Given the description of an element on the screen output the (x, y) to click on. 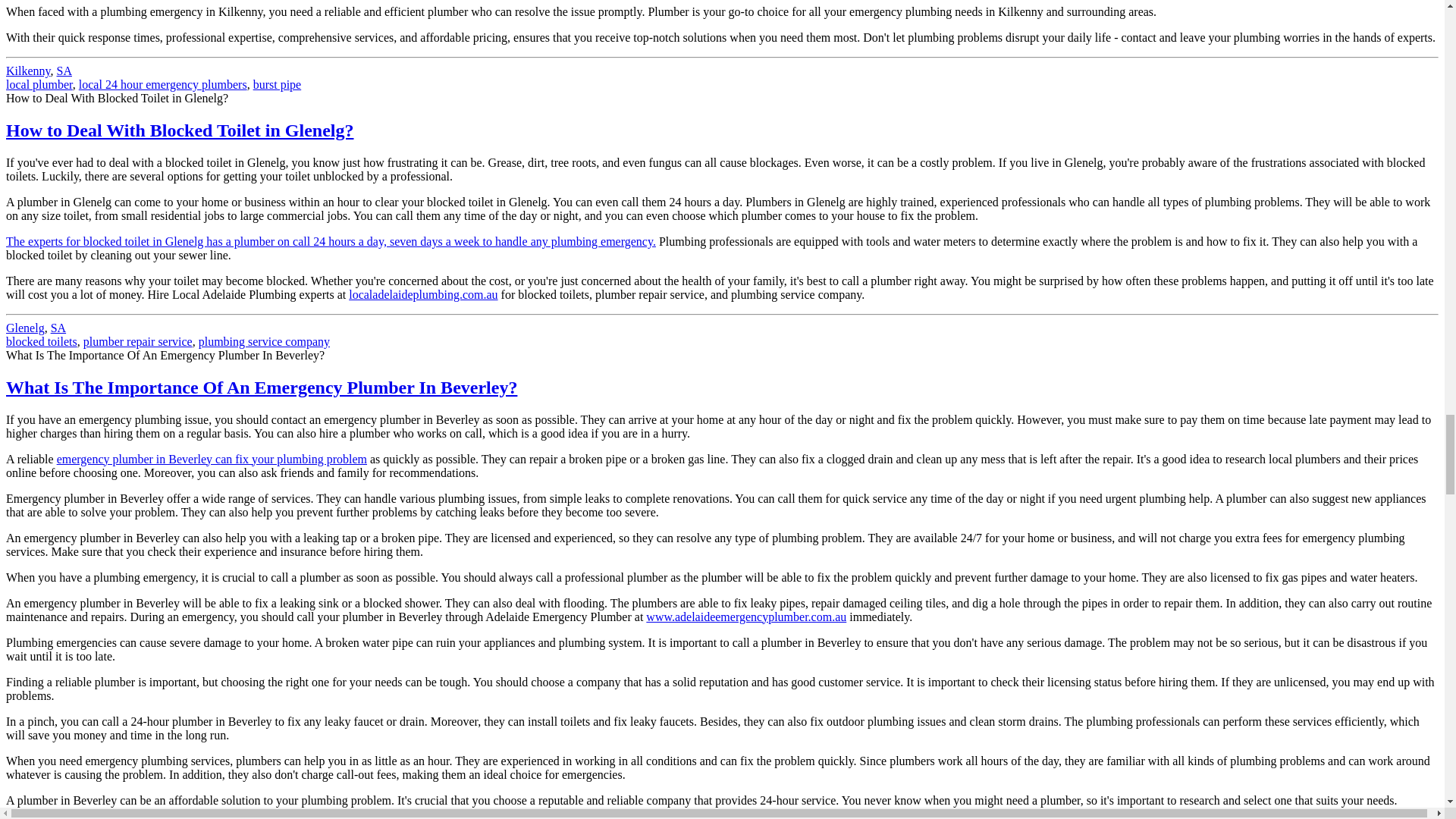
Glenelg (25, 327)
localadelaideplumbing.com.au (423, 294)
Kilkenny (27, 70)
local plumber (38, 83)
SA (63, 70)
How to Deal With Blocked Toilet in Glenelg? (179, 130)
local 24 hour emergency plumbers (162, 83)
blocked toilets (41, 341)
SA (57, 327)
burst pipe (277, 83)
